Given the description of an element on the screen output the (x, y) to click on. 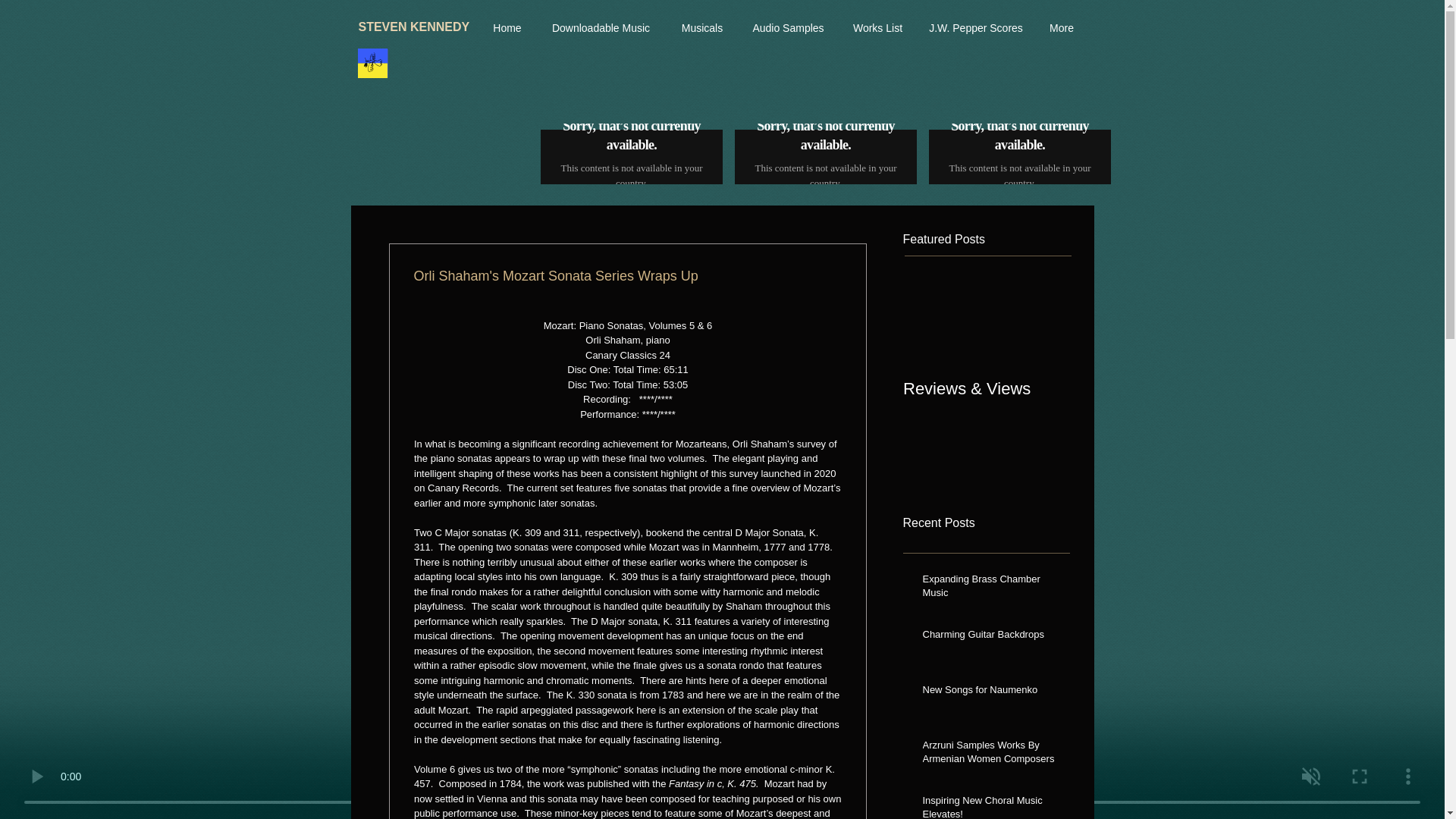
Charming Guitar Backdrops (990, 637)
Spotify Player (1018, 154)
Musicals (702, 28)
Spotify Player (1018, 153)
Spotify Player (631, 154)
Downloadable Music (600, 28)
Spotify Player (631, 153)
Inspiring New Choral Music Elevates! (990, 806)
Works List (876, 28)
Spotify Player (824, 153)
